Given the description of an element on the screen output the (x, y) to click on. 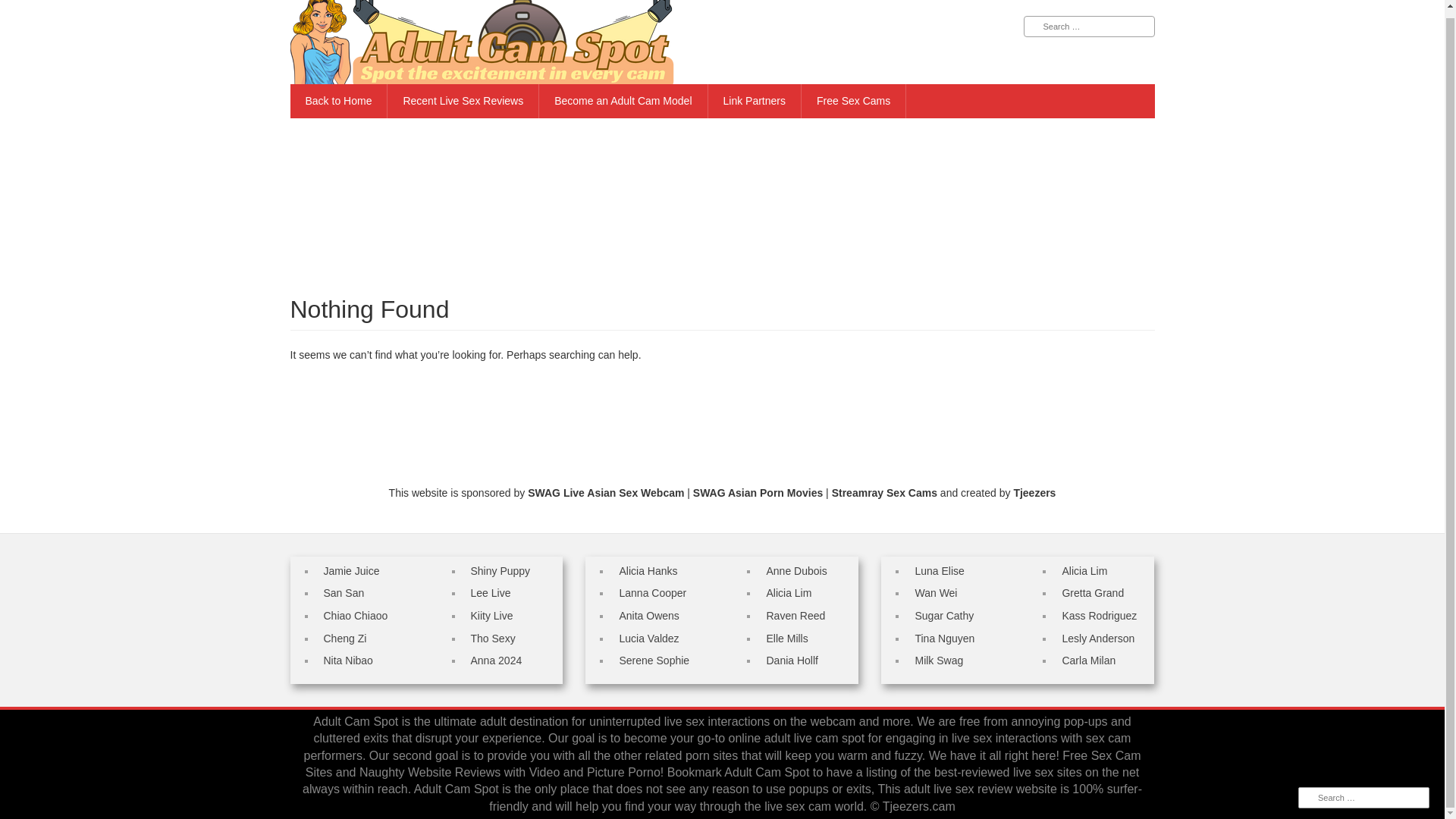
Anita Owens (648, 615)
Jamie Juice (350, 571)
Lanna Cooper (651, 592)
Kiity Live (491, 615)
Link Partners (754, 100)
Serene Sophie (653, 660)
Search (22, 7)
Lee Live (490, 592)
Shiny Puppy (499, 571)
Chiao Chiaoo (355, 615)
Recent Live Sex Reviews (462, 100)
Tjeezers (1034, 492)
Lucia Valdez (648, 638)
Cheng Zi (344, 638)
Tho Sexy (492, 638)
